Given the description of an element on the screen output the (x, y) to click on. 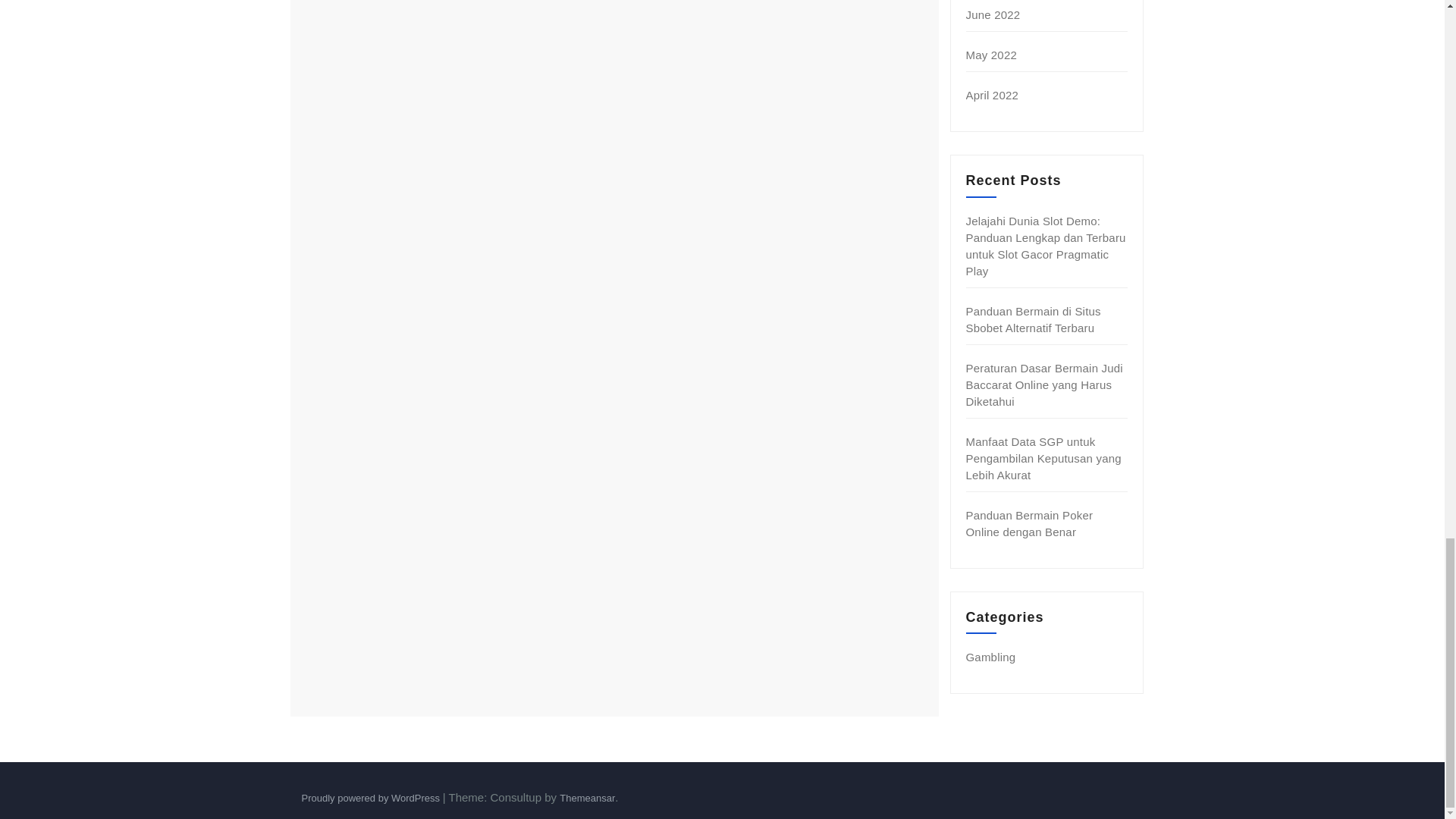
May 2022 (991, 54)
June 2022 (993, 14)
Panduan Bermain di Situs Sbobet Alternatif Terbaru (1033, 319)
April 2022 (992, 94)
